Given the description of an element on the screen output the (x, y) to click on. 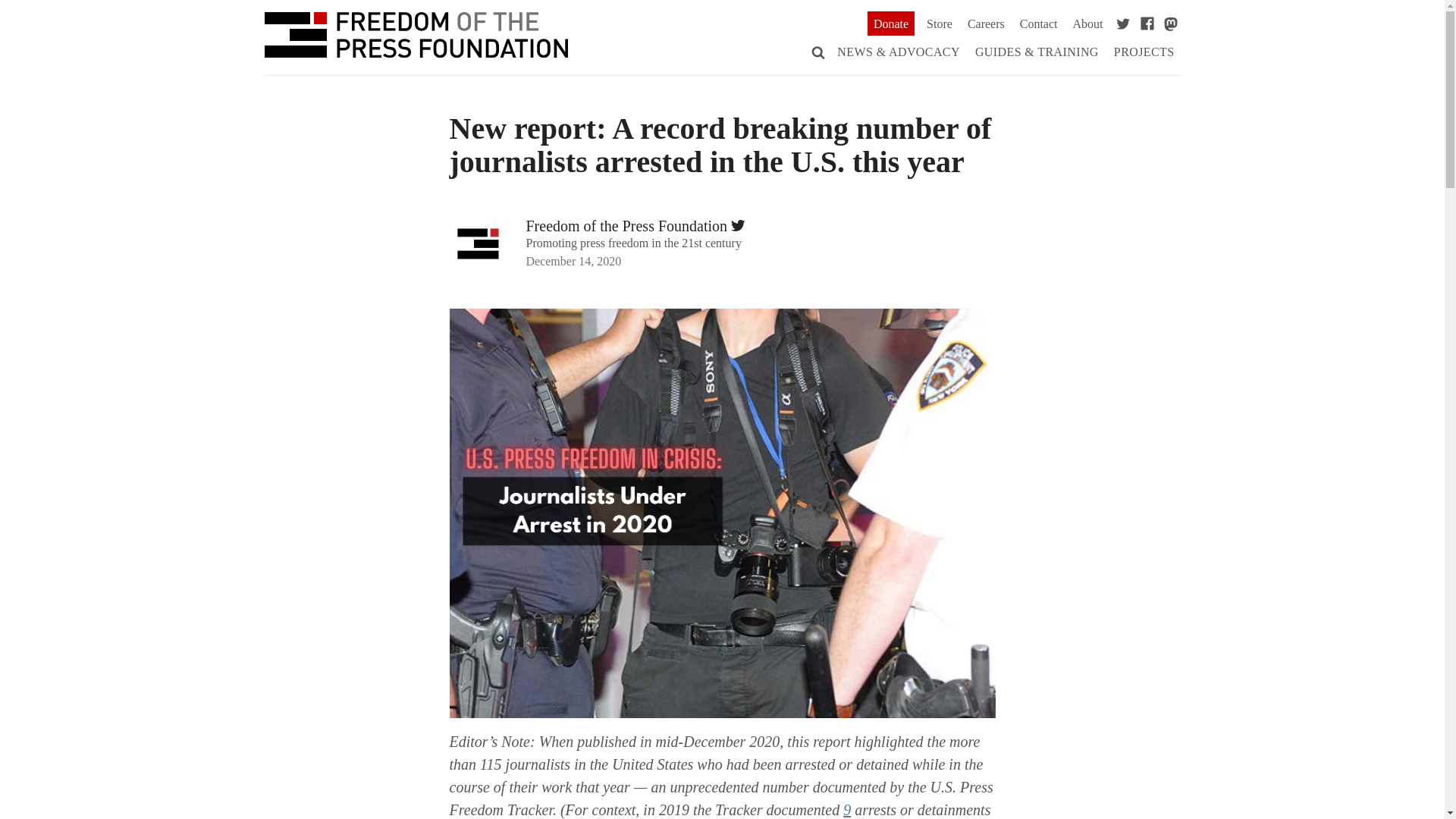
About (1086, 23)
Freedom of the Press Foundation (415, 37)
Donate (890, 23)
Store (939, 23)
PROJECTS (1144, 51)
Careers (985, 23)
Freedom of the Press Foundation (626, 225)
Contact (1038, 23)
